Given the description of an element on the screen output the (x, y) to click on. 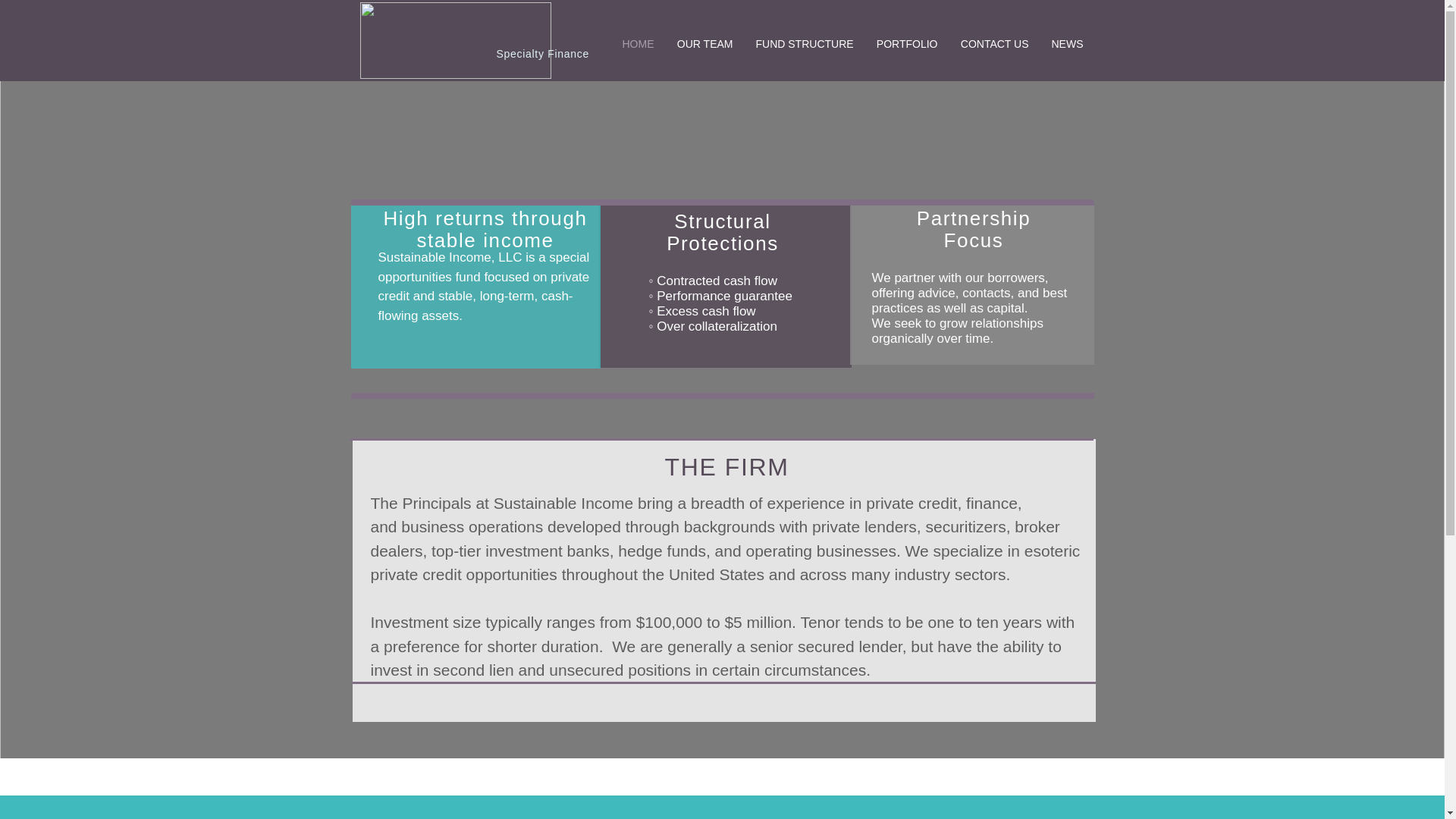
CONTACT US (995, 44)
PORTFOLIO (906, 44)
si-large-mono.png (454, 40)
Specialty Finance (542, 53)
HOME (638, 44)
OUR TEAM (704, 44)
NEWS (1067, 44)
FUND STRUCTURE (804, 44)
